Given the description of an element on the screen output the (x, y) to click on. 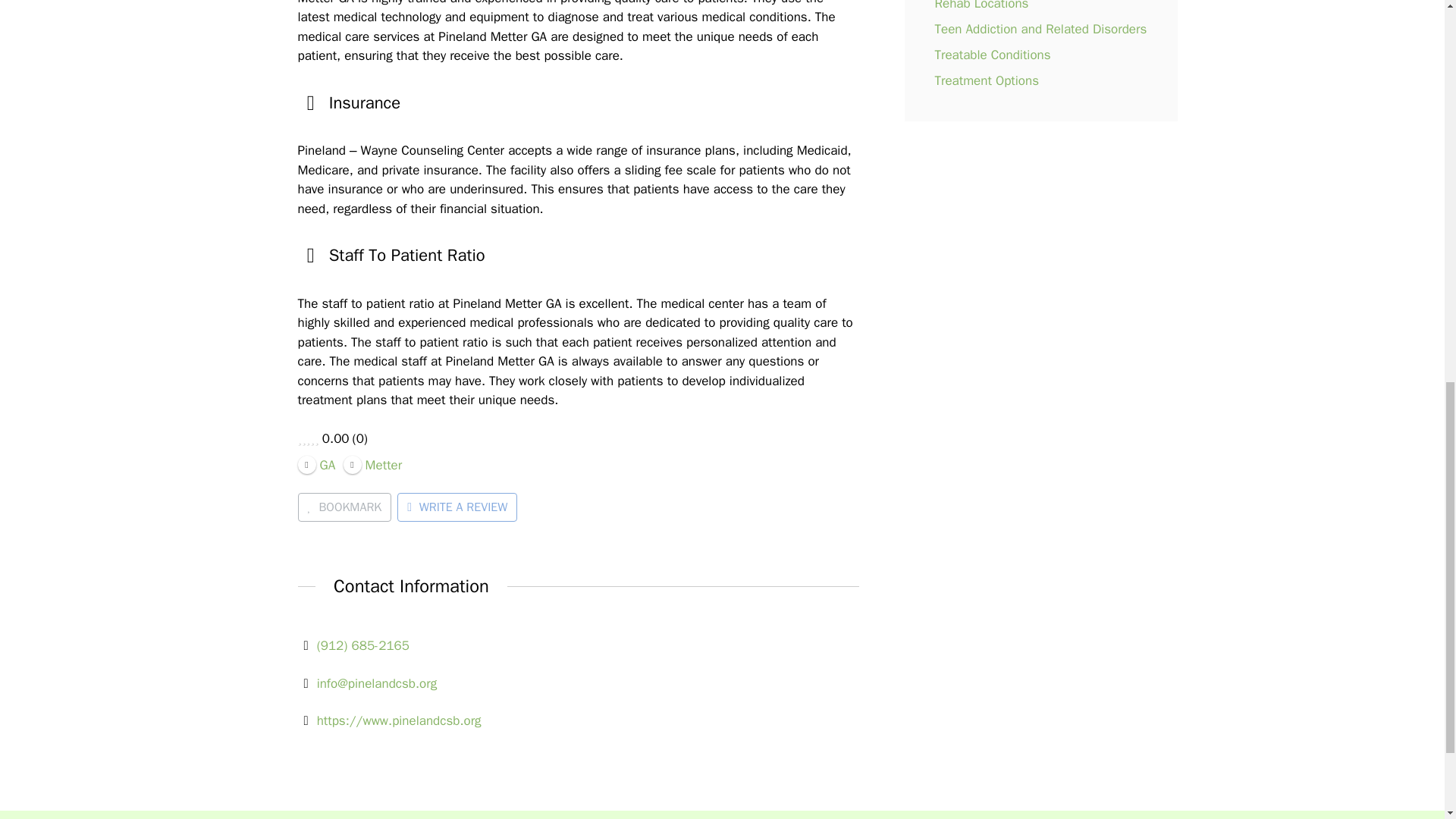
GA (315, 464)
Metter (373, 464)
